Given the description of an element on the screen output the (x, y) to click on. 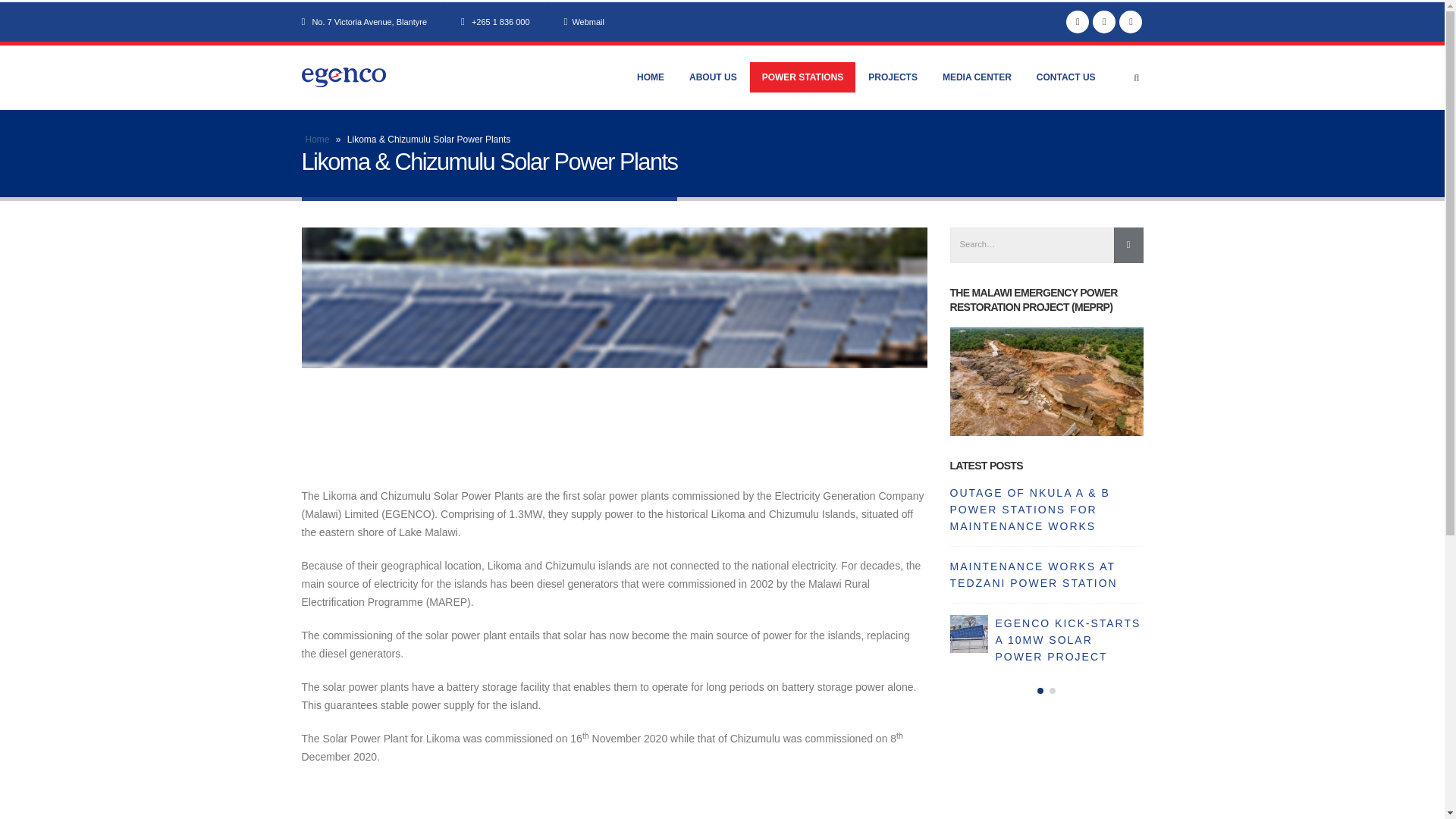
POWER STATIONS (802, 77)
Youtube (1130, 21)
HOME (650, 77)
Webmail (583, 22)
ABOUT US (713, 77)
Twitter (1104, 21)
MEDIA CENTER (976, 77)
PROJECTS (893, 77)
CONTACT US (1066, 77)
Facebook (1077, 21)
